Given the description of an element on the screen output the (x, y) to click on. 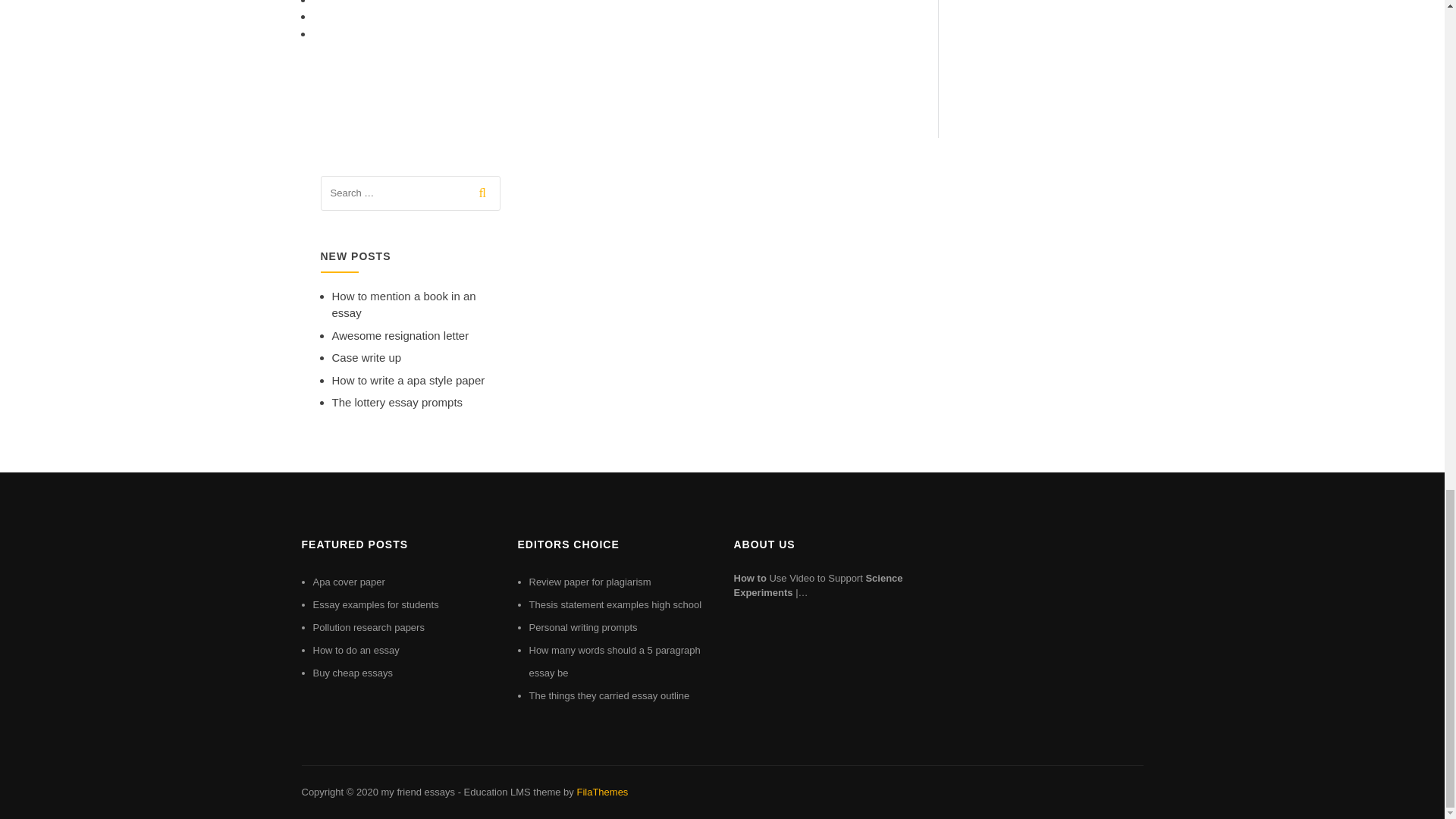
Thesis statement examples high school (615, 604)
How to write a apa style paper (407, 379)
Apa cover paper (348, 582)
How to do an essay (355, 650)
How to mention a book in an essay (403, 304)
Essay examples for students (375, 604)
Personal writing prompts (583, 627)
The lottery essay prompts (397, 401)
Buy cheap essays (353, 672)
my friend essays (417, 791)
